Given the description of an element on the screen output the (x, y) to click on. 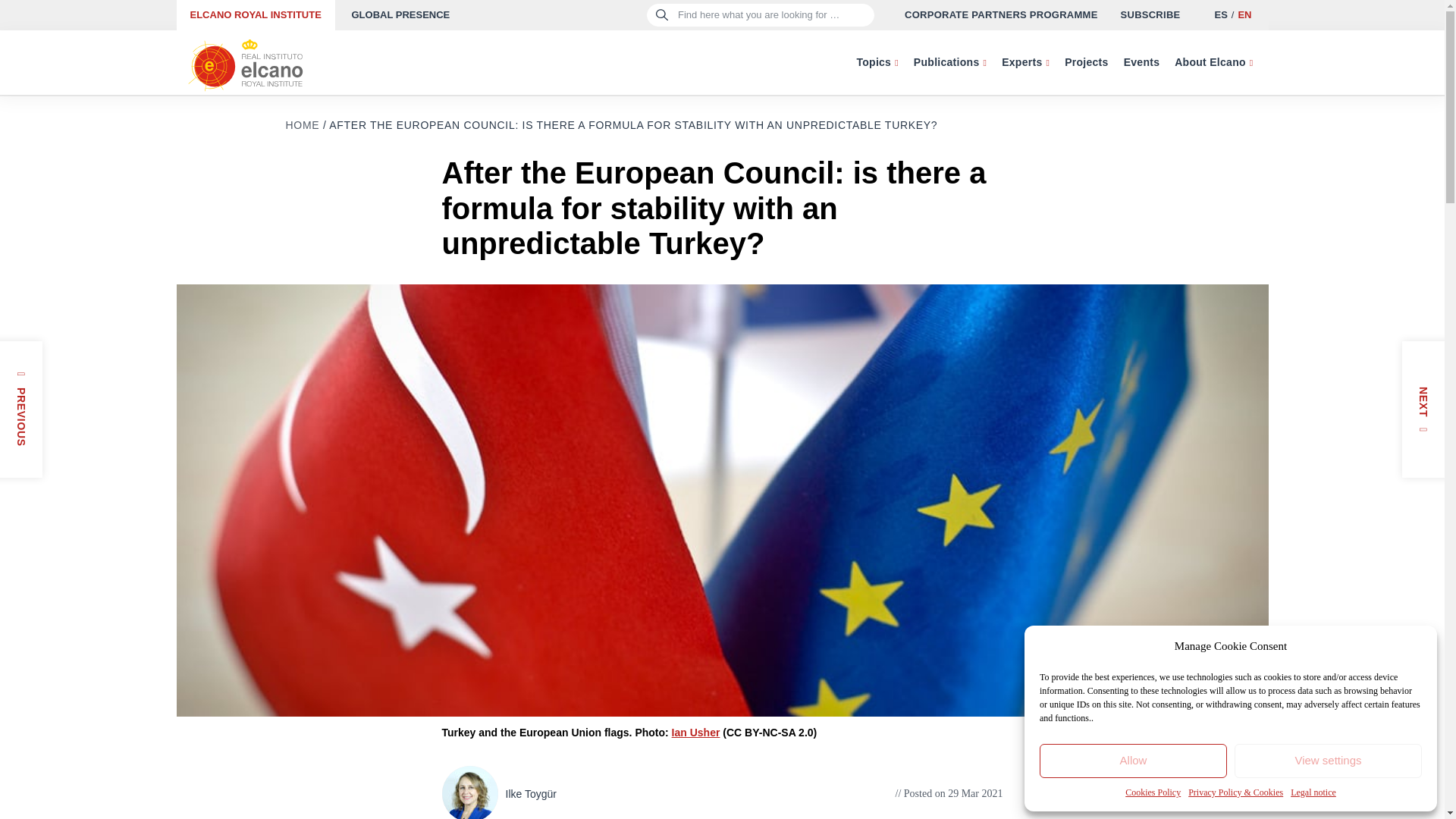
Cookies Policy (1152, 792)
GLOBAL PRESENCE (400, 15)
Topics (876, 61)
Posted on 29 Mar 2021 (949, 793)
SUBSCRIBE (1150, 15)
Legal notice (1313, 792)
Publications (949, 61)
CORPORATE PARTNERS PROGRAMME (1000, 15)
Search (39, 18)
ES (1219, 14)
